Given the description of an element on the screen output the (x, y) to click on. 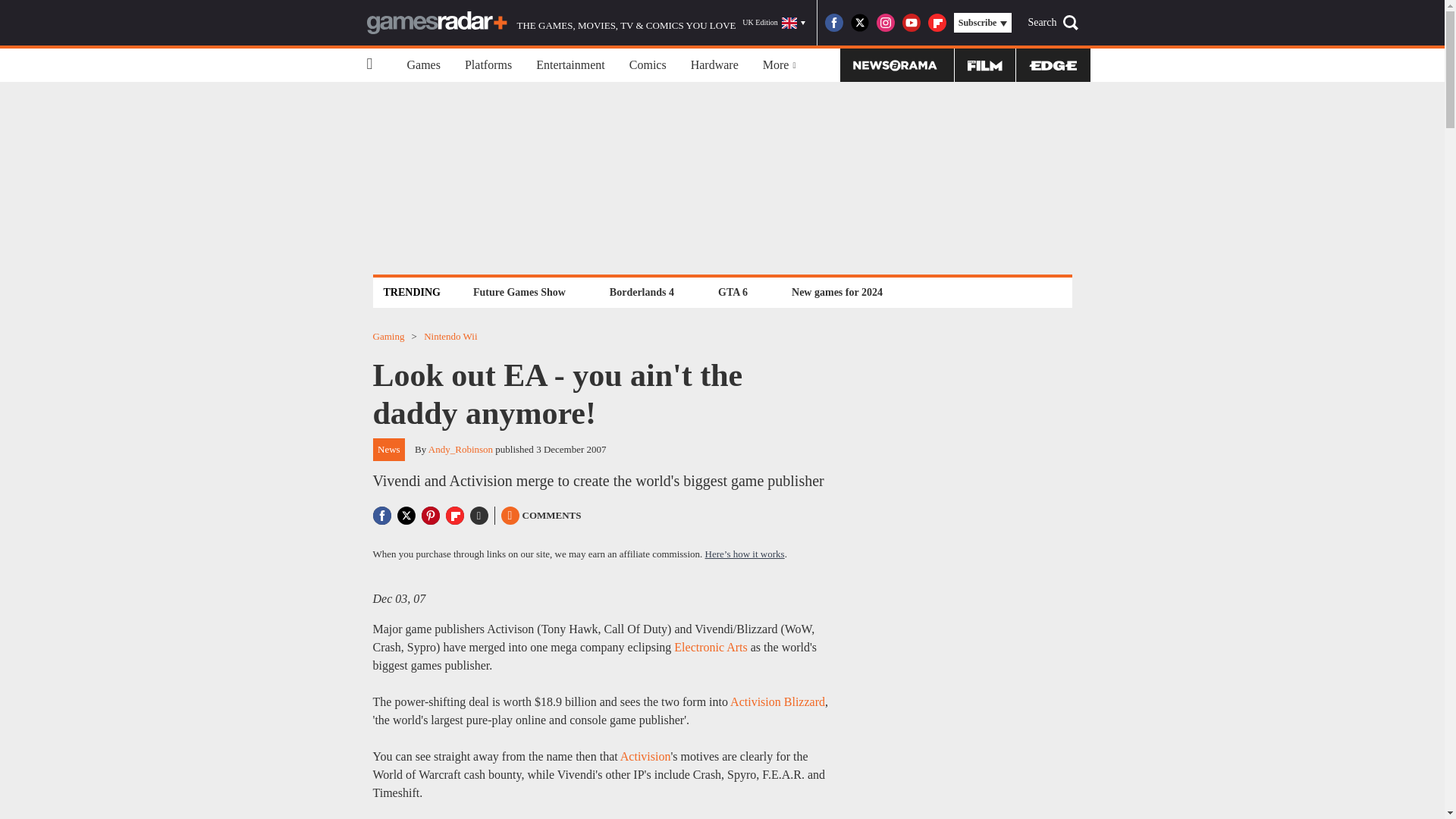
Platforms (488, 64)
Comics (647, 64)
Games (422, 64)
Hardware (714, 64)
Entertainment (570, 64)
Future Games Show (518, 292)
GTA 6 (732, 292)
UK Edition (773, 22)
New games for 2024 (837, 292)
Borderlands 4 (641, 292)
